Given the description of an element on the screen output the (x, y) to click on. 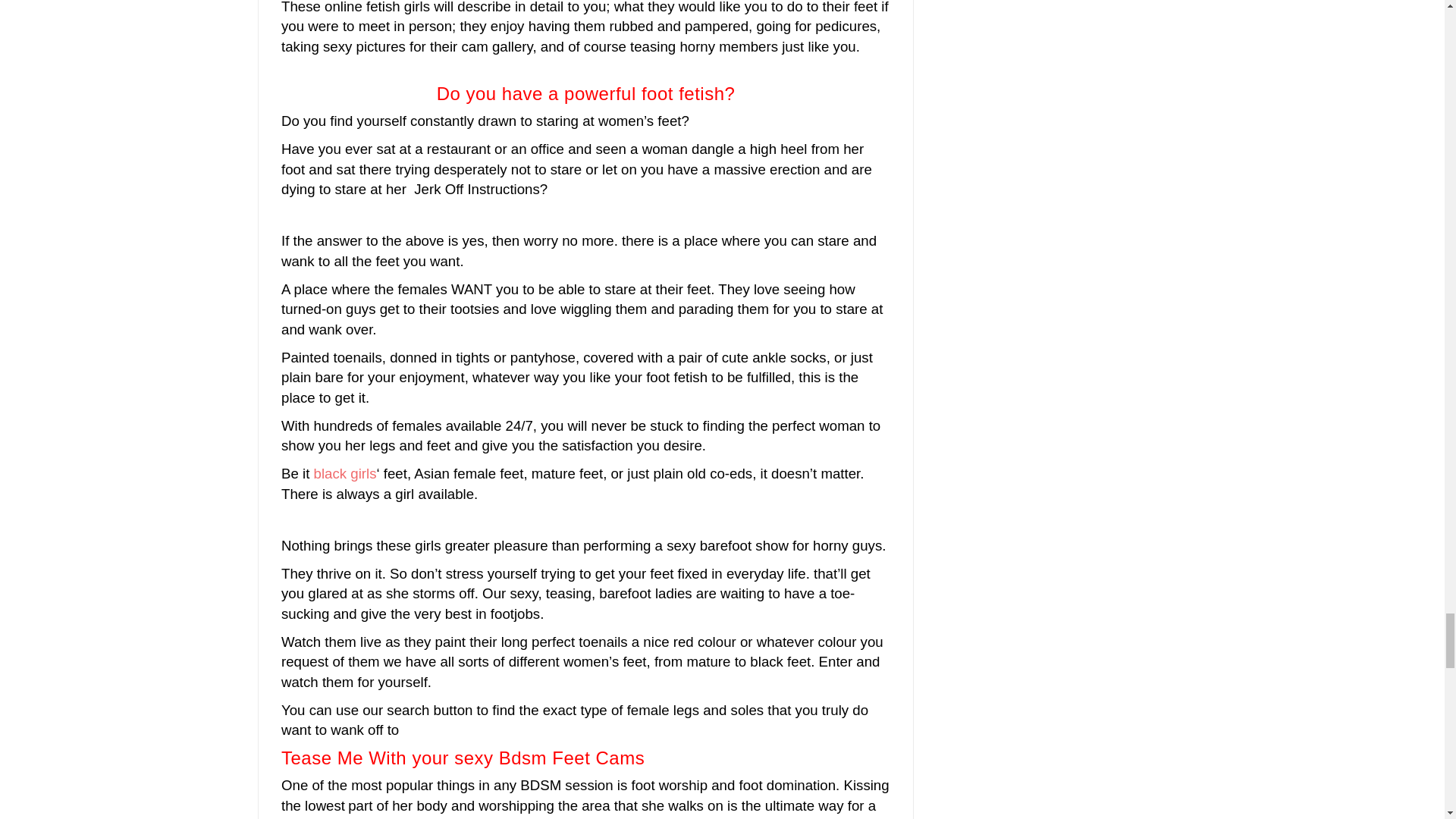
 Jerk Off Instructions (475, 188)
black girls (345, 473)
